Given the description of an element on the screen output the (x, y) to click on. 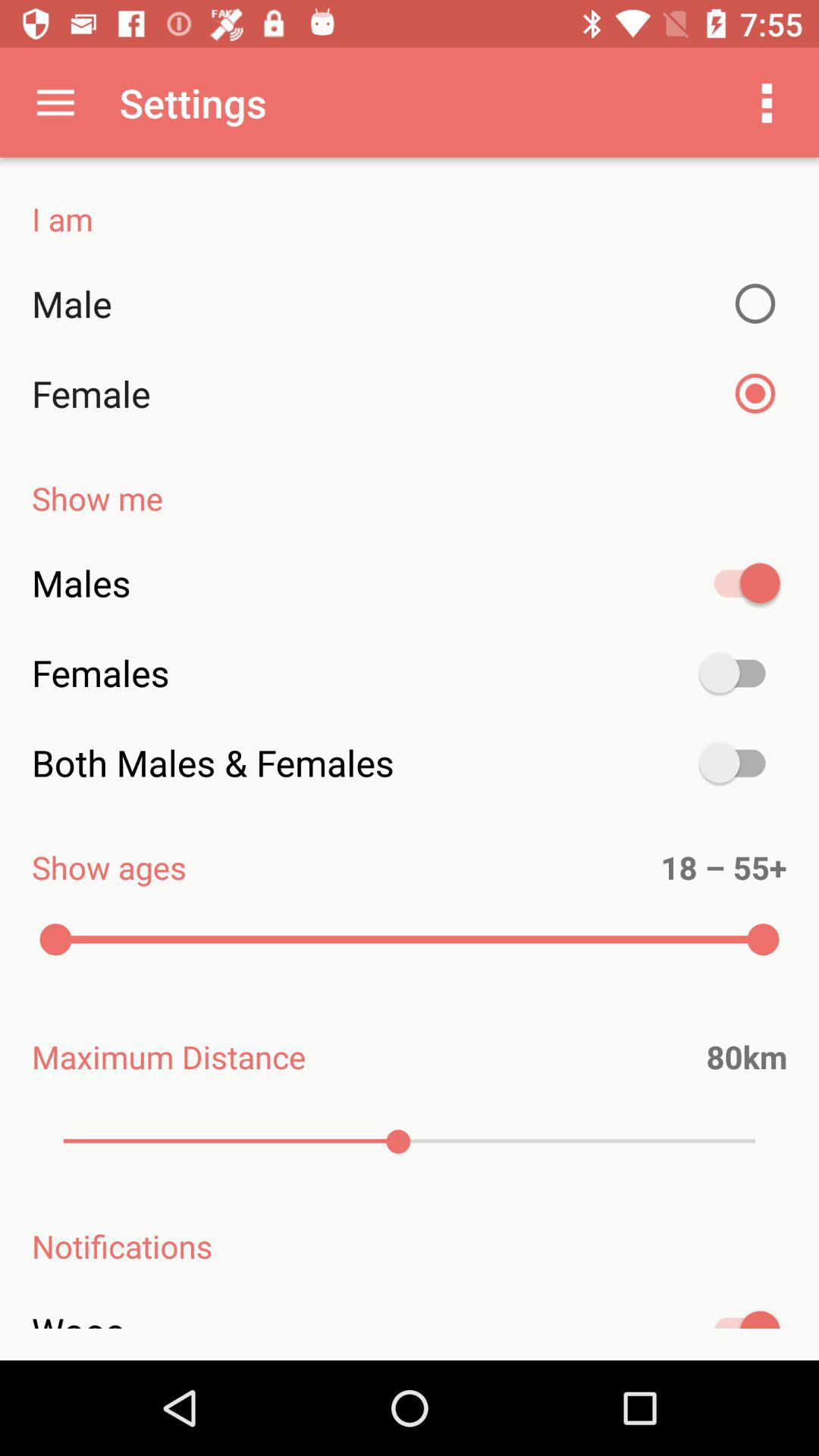
scroll to female item (409, 393)
